Given the description of an element on the screen output the (x, y) to click on. 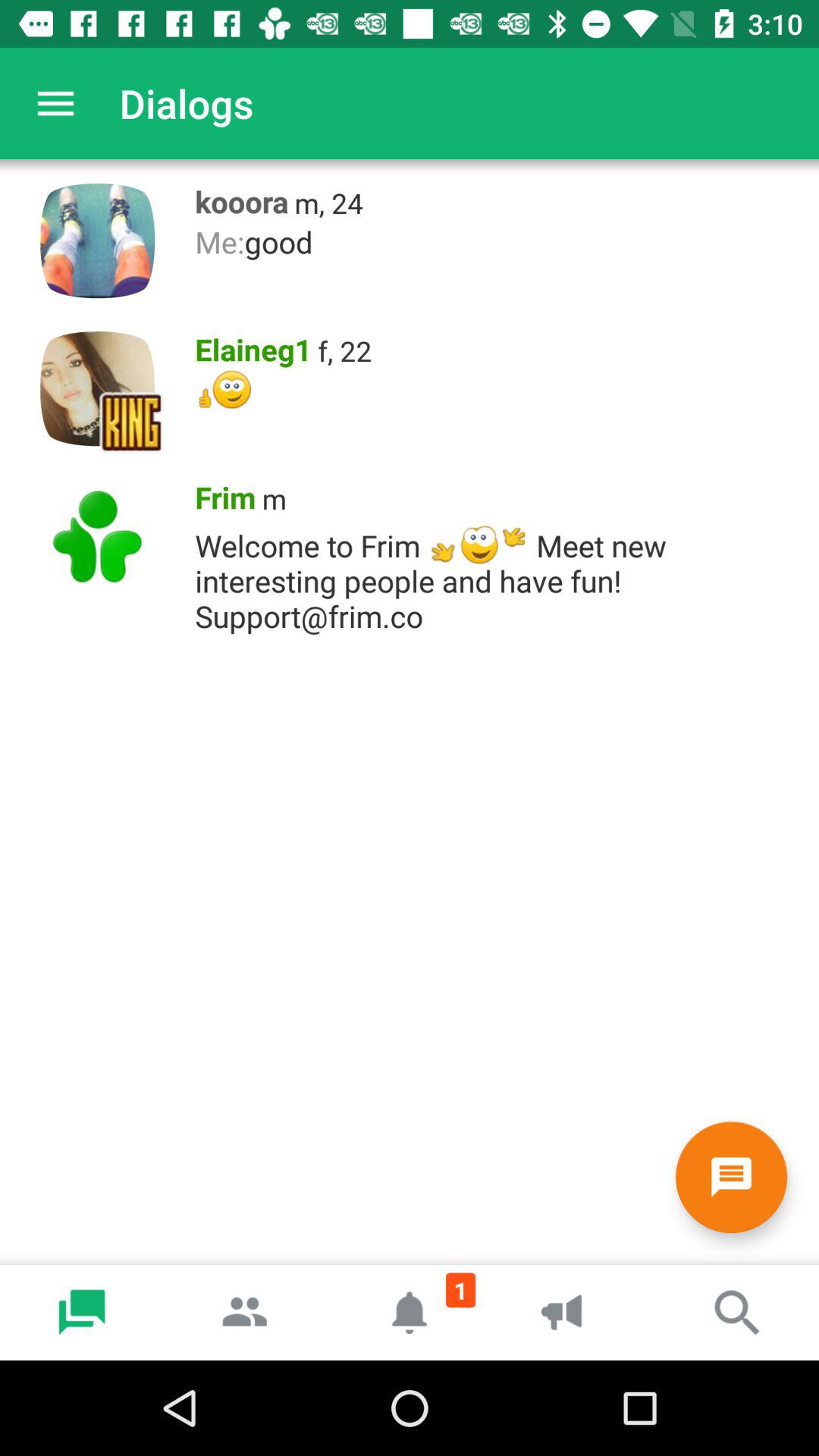
choose the item to the left of f, 22 (248, 346)
